Given the description of an element on the screen output the (x, y) to click on. 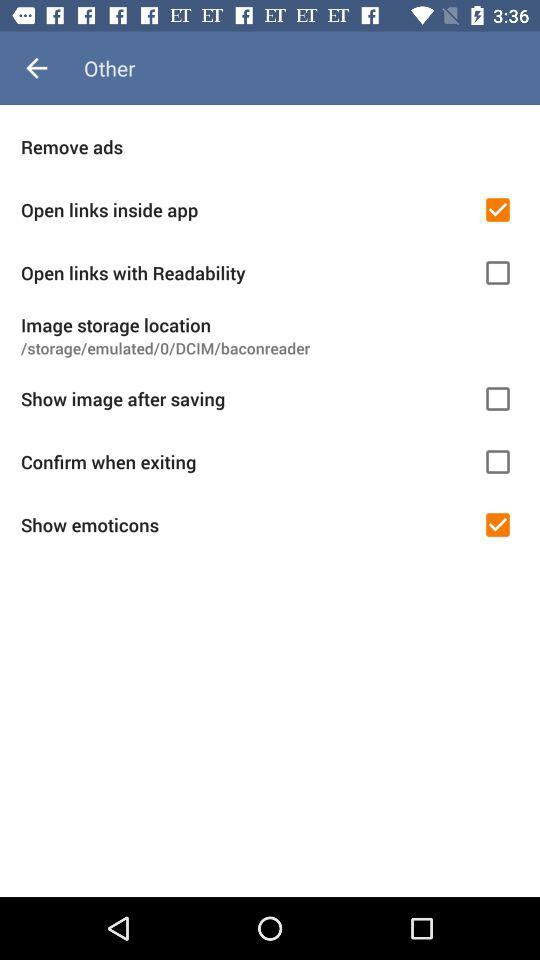
open the icon above the remove ads item (36, 68)
